Given the description of an element on the screen output the (x, y) to click on. 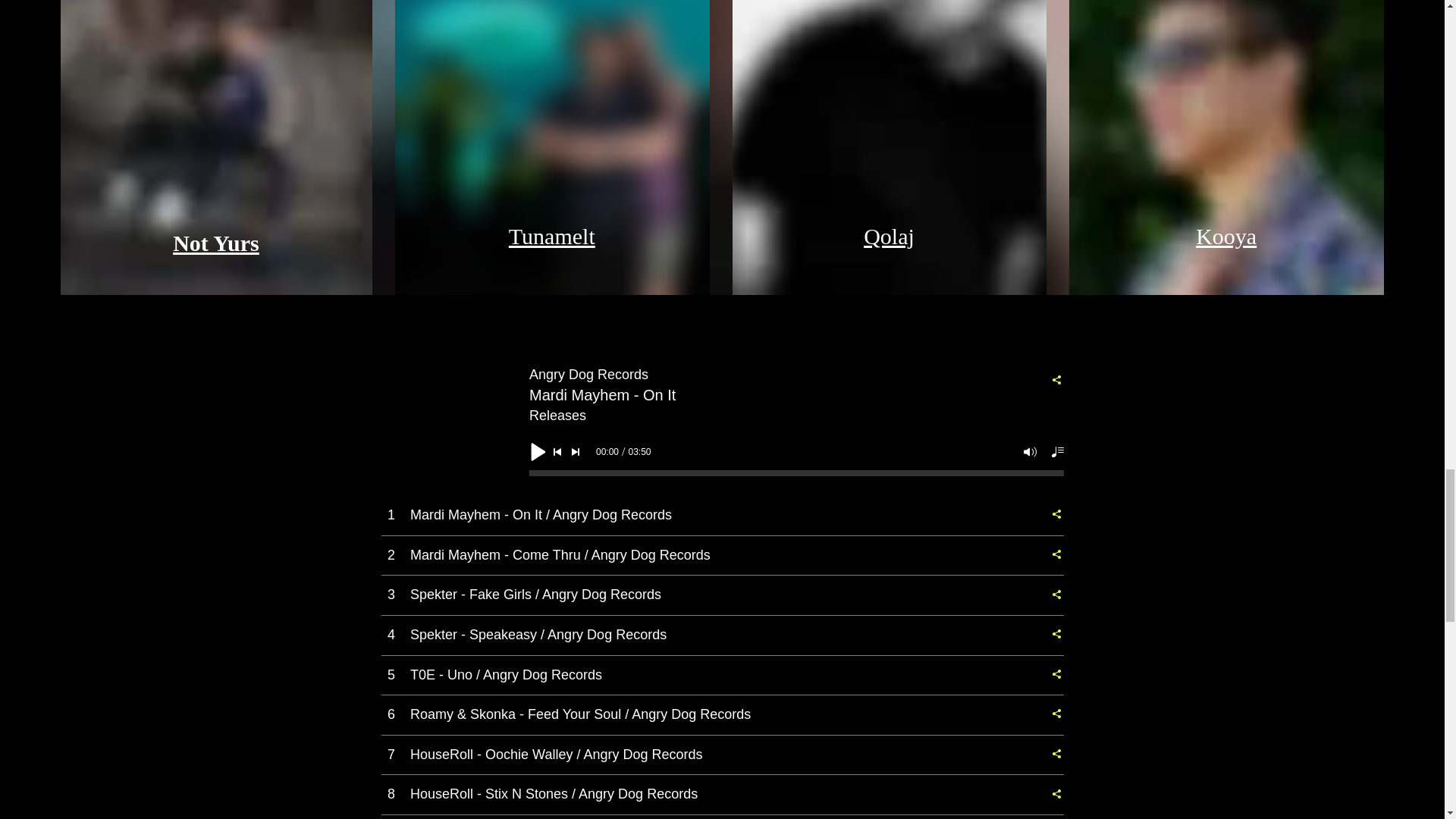
Kooya (1225, 235)
Qolaj (888, 235)
Tunamelt (551, 235)
Not Yurs (216, 242)
